Given the description of an element on the screen output the (x, y) to click on. 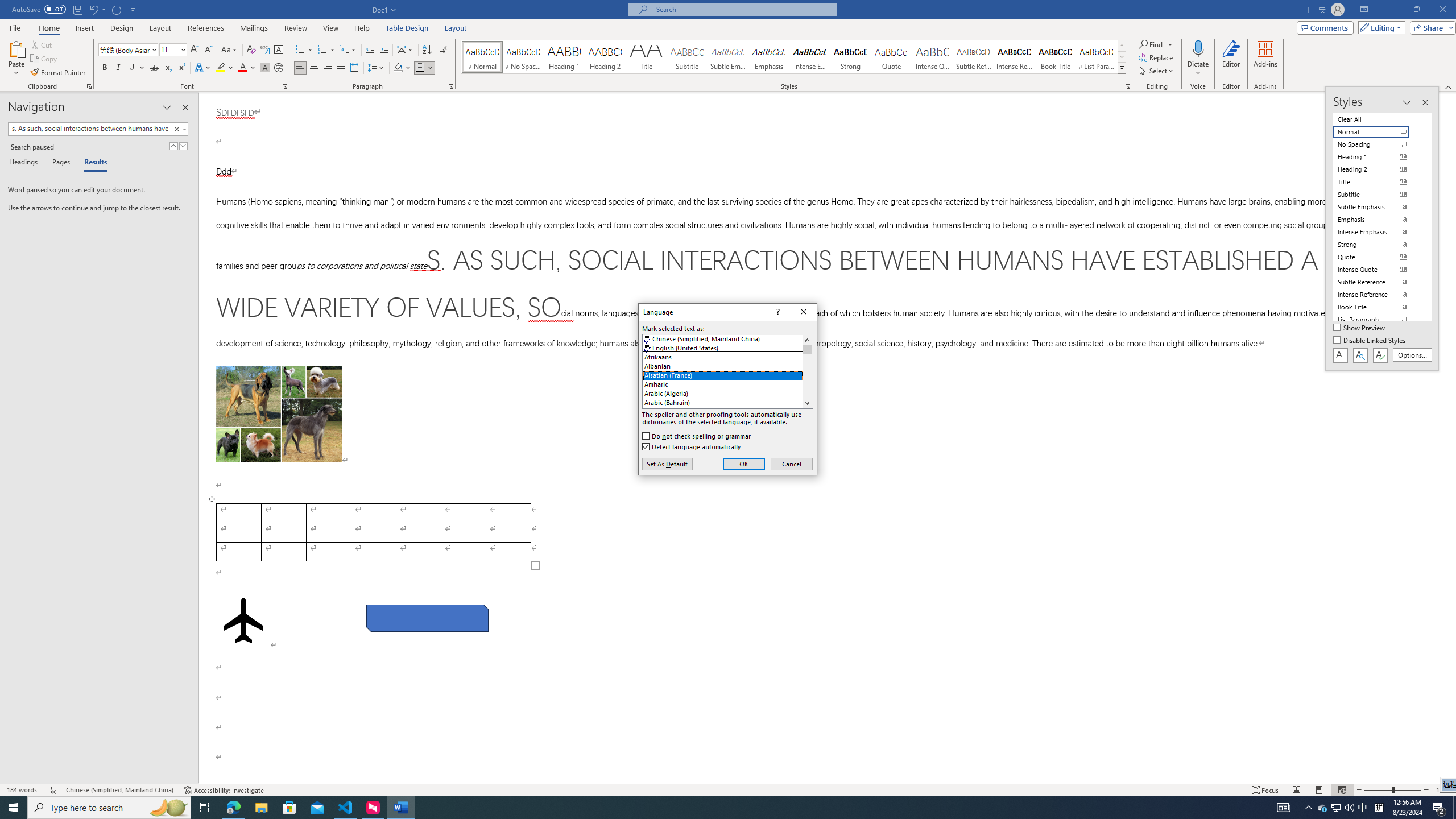
Focus  (1265, 790)
Subtitle (686, 56)
Book Title (1055, 56)
Do not check spelling or grammar (697, 435)
Microsoft Edge - 1 running window (233, 807)
Enclose Characters... (278, 67)
Page down (807, 376)
View (330, 28)
Text Highlight Color (224, 67)
AutomationID: 4105 (1283, 807)
Review (295, 28)
Comments (1325, 27)
